Given the description of an element on the screen output the (x, y) to click on. 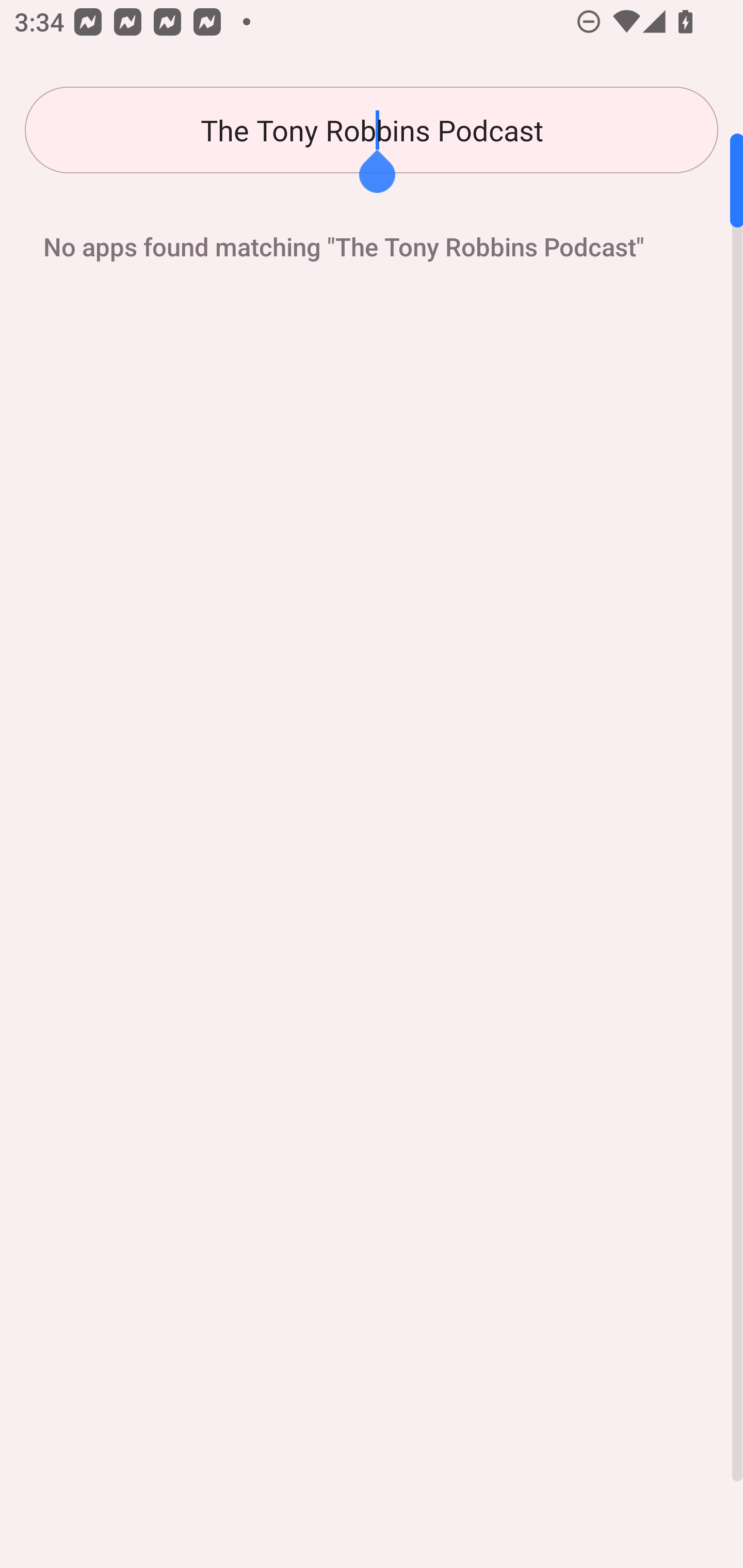
The Tony Robbins Podcast (371, 130)
